Given the description of an element on the screen output the (x, y) to click on. 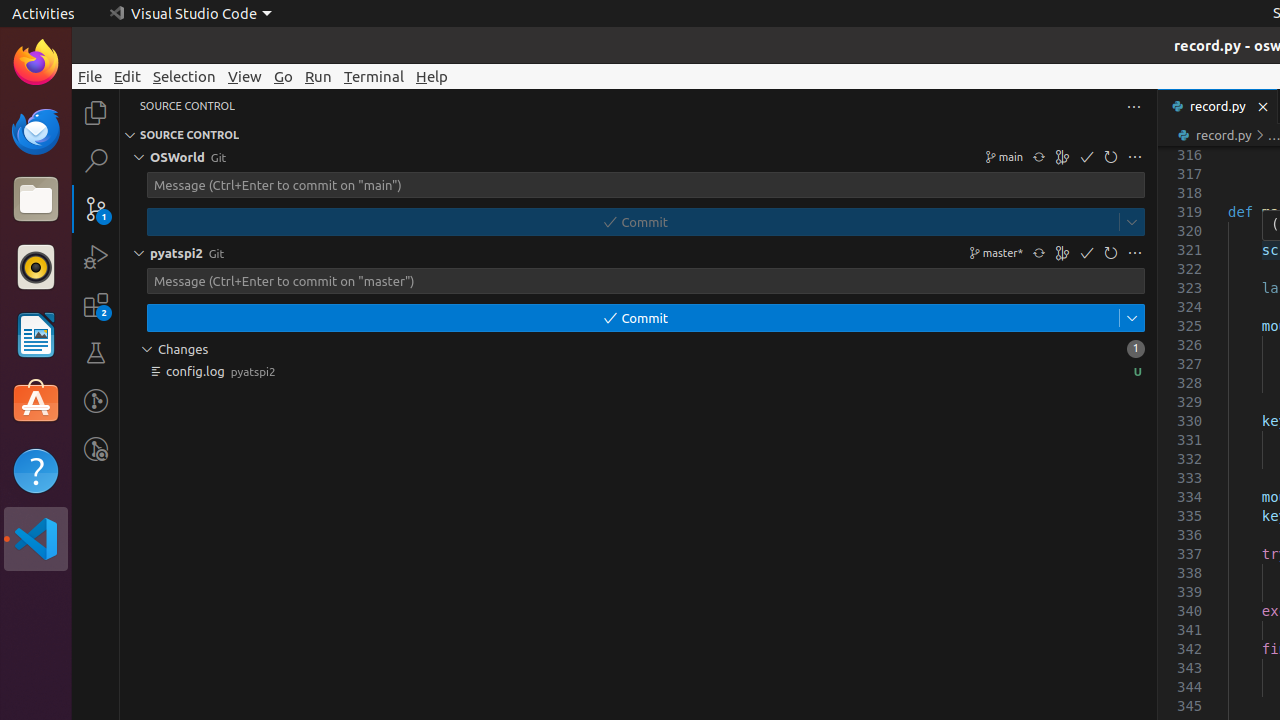
Changes Element type: tree-item (638, 349)
Explorer (Ctrl+Shift+E) Element type: page-tab (96, 113)
GitLens Inspect Element type: page-tab (96, 449)
Run and Debug (Ctrl+Shift+D) Element type: page-tab (96, 257)
